Given the description of an element on the screen output the (x, y) to click on. 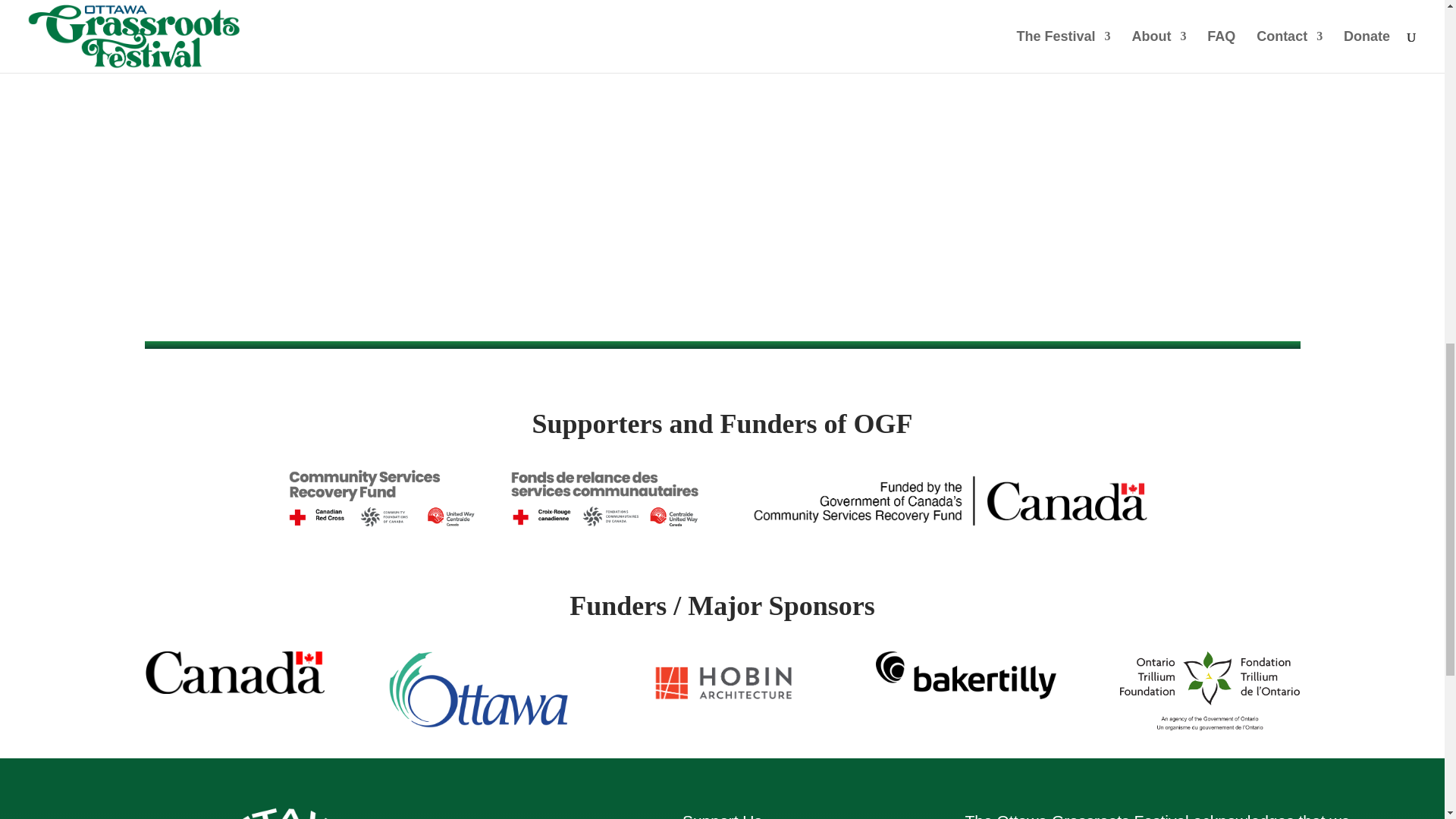
Canada-CSRF (950, 500)
CSRF (493, 497)
Hobin Architecture hlogo (721, 683)
OGF-Logo-Tall-White-2024 (275, 812)
ottawa (478, 689)
